Given the description of an element on the screen output the (x, y) to click on. 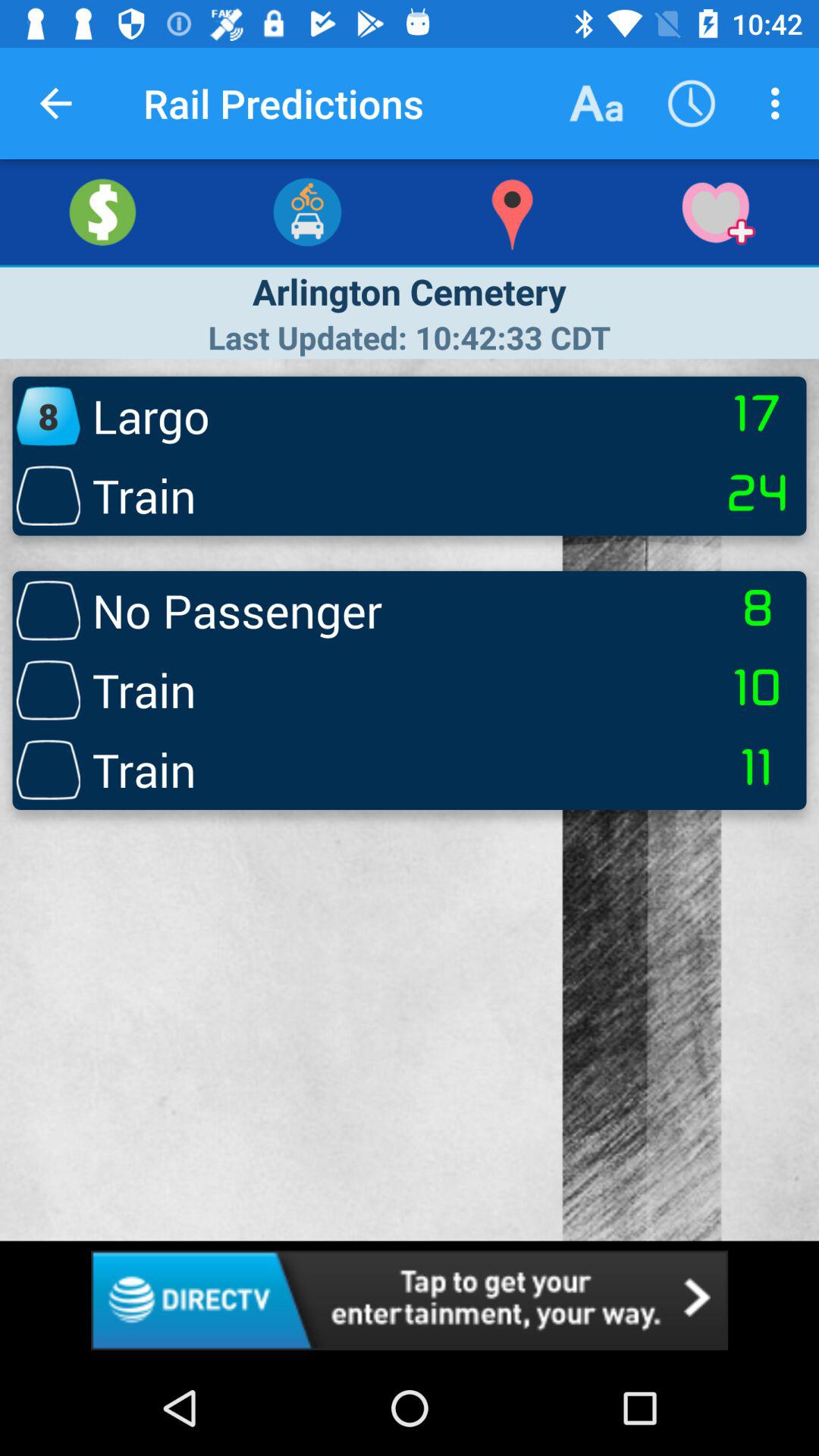
open advertisements (409, 1300)
